Given the description of an element on the screen output the (x, y) to click on. 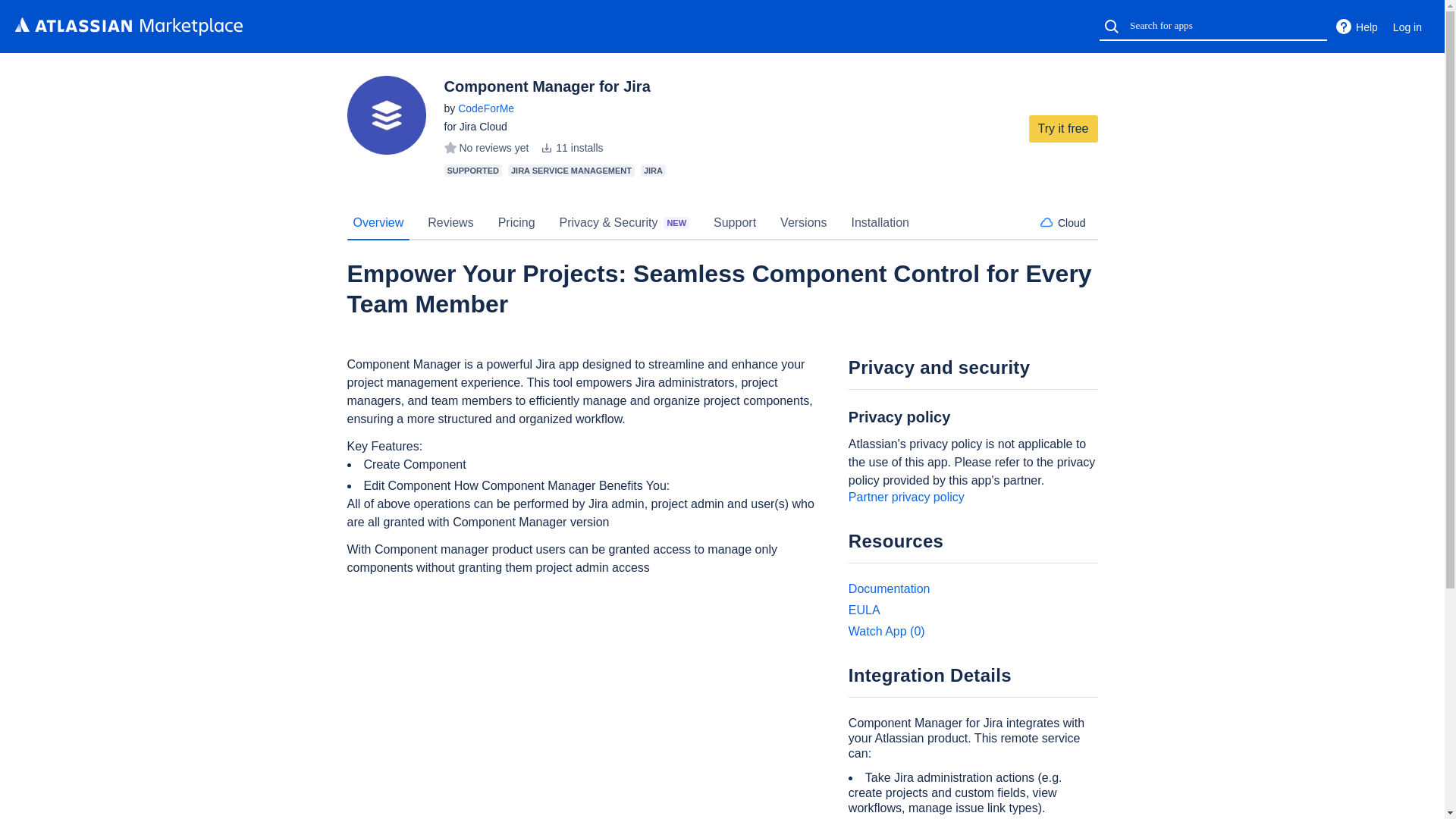
No reviews yet (485, 147)
EULA (864, 609)
Try it free (1063, 129)
Partner privacy policy (905, 496)
Documentation (889, 588)
CodeForMe (485, 108)
Atlassian Marketplace (128, 26)
Help (1356, 26)
Log in (1407, 26)
